Given the description of an element on the screen output the (x, y) to click on. 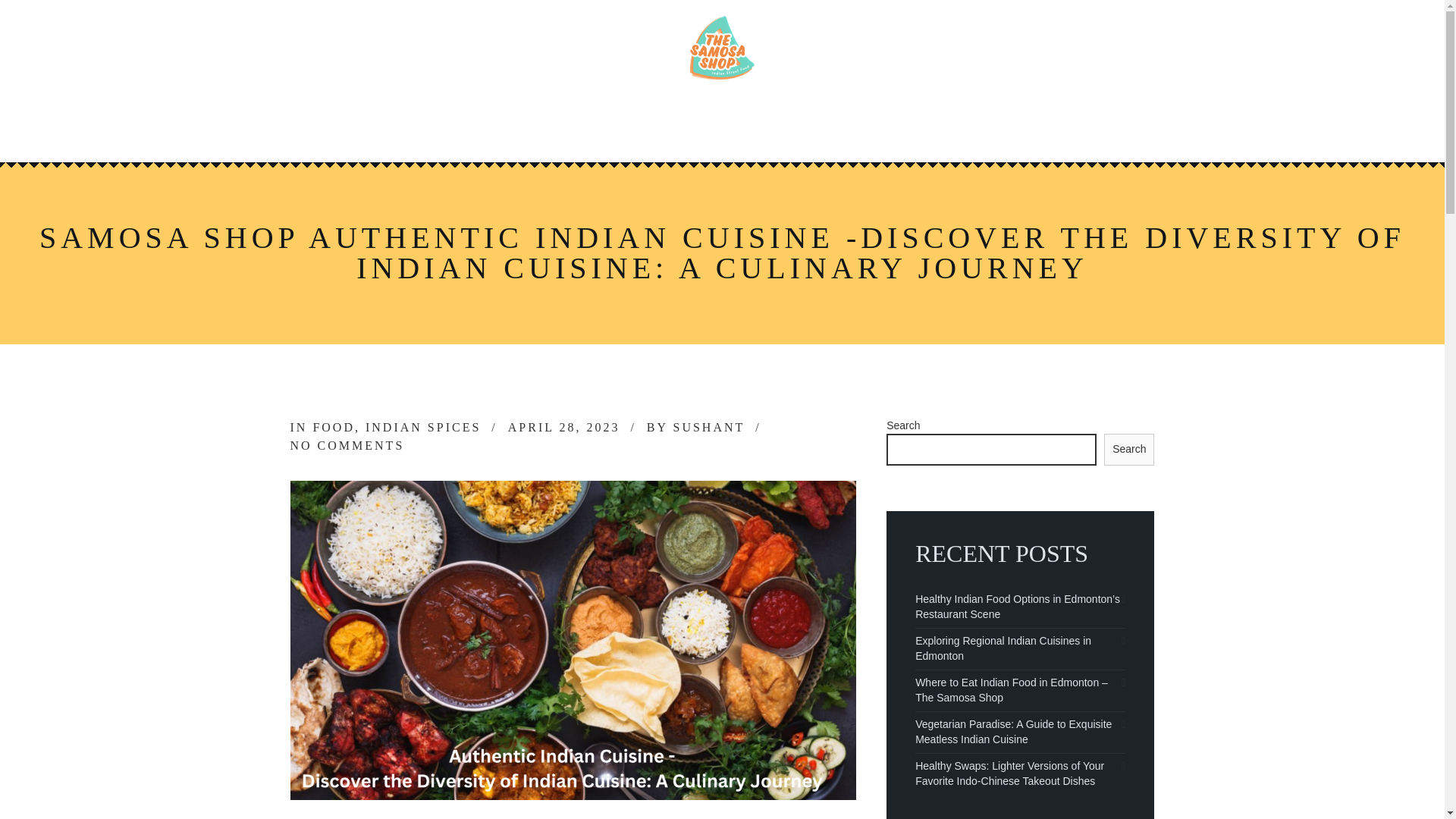
HOME (579, 126)
NO COMMENTS (346, 445)
INDIAN SPICES (422, 427)
MENU (655, 126)
CONTACT (850, 126)
ABOUT US (745, 126)
FOOD (334, 427)
